Given the description of an element on the screen output the (x, y) to click on. 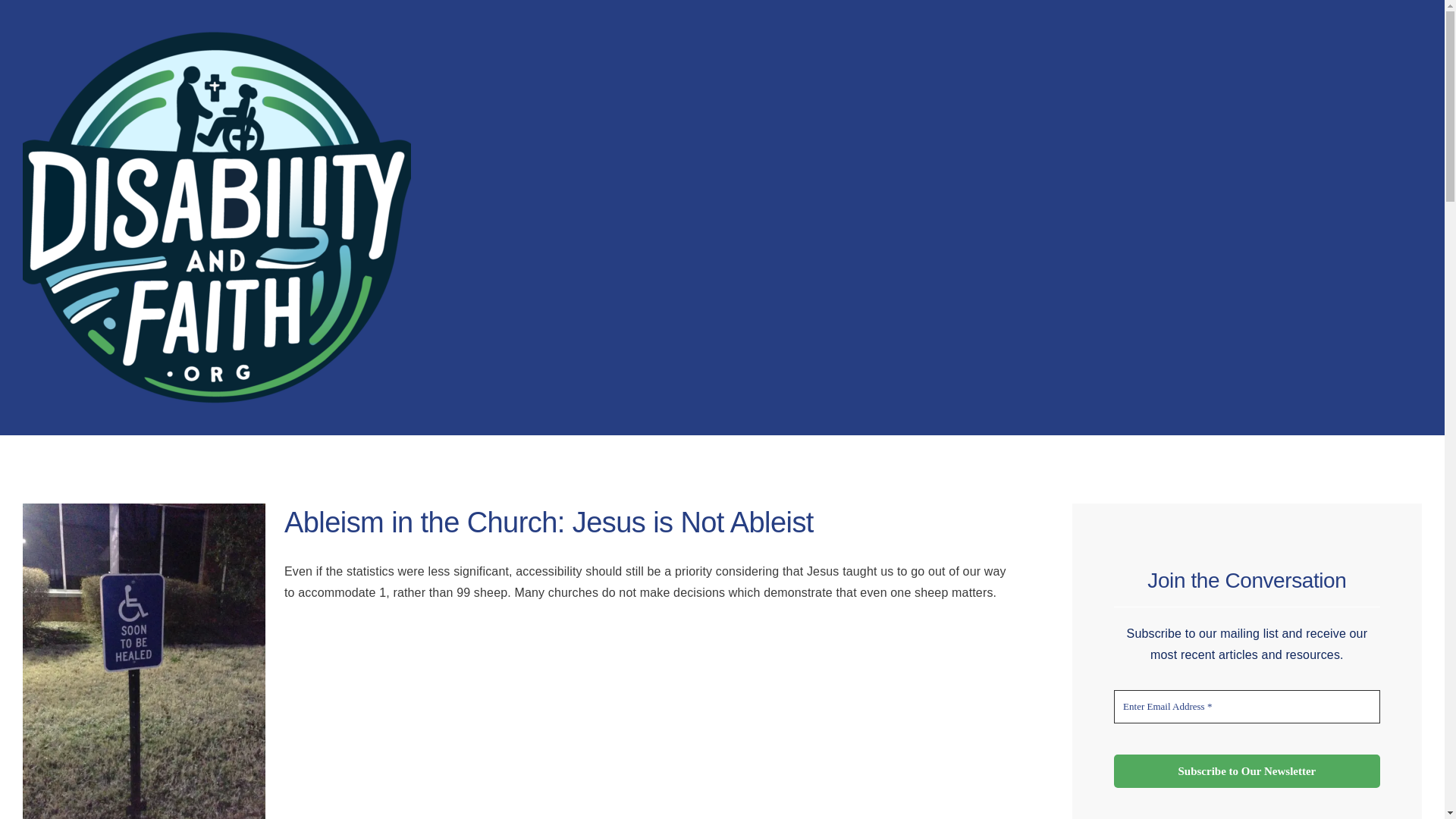
Subscribe to Our Newsletter (1246, 771)
Ableism in the Church: Jesus is Not Ableist (548, 522)
Subscribe to Our Newsletter (1246, 771)
Enter Email Address (1246, 706)
